Given the description of an element on the screen output the (x, y) to click on. 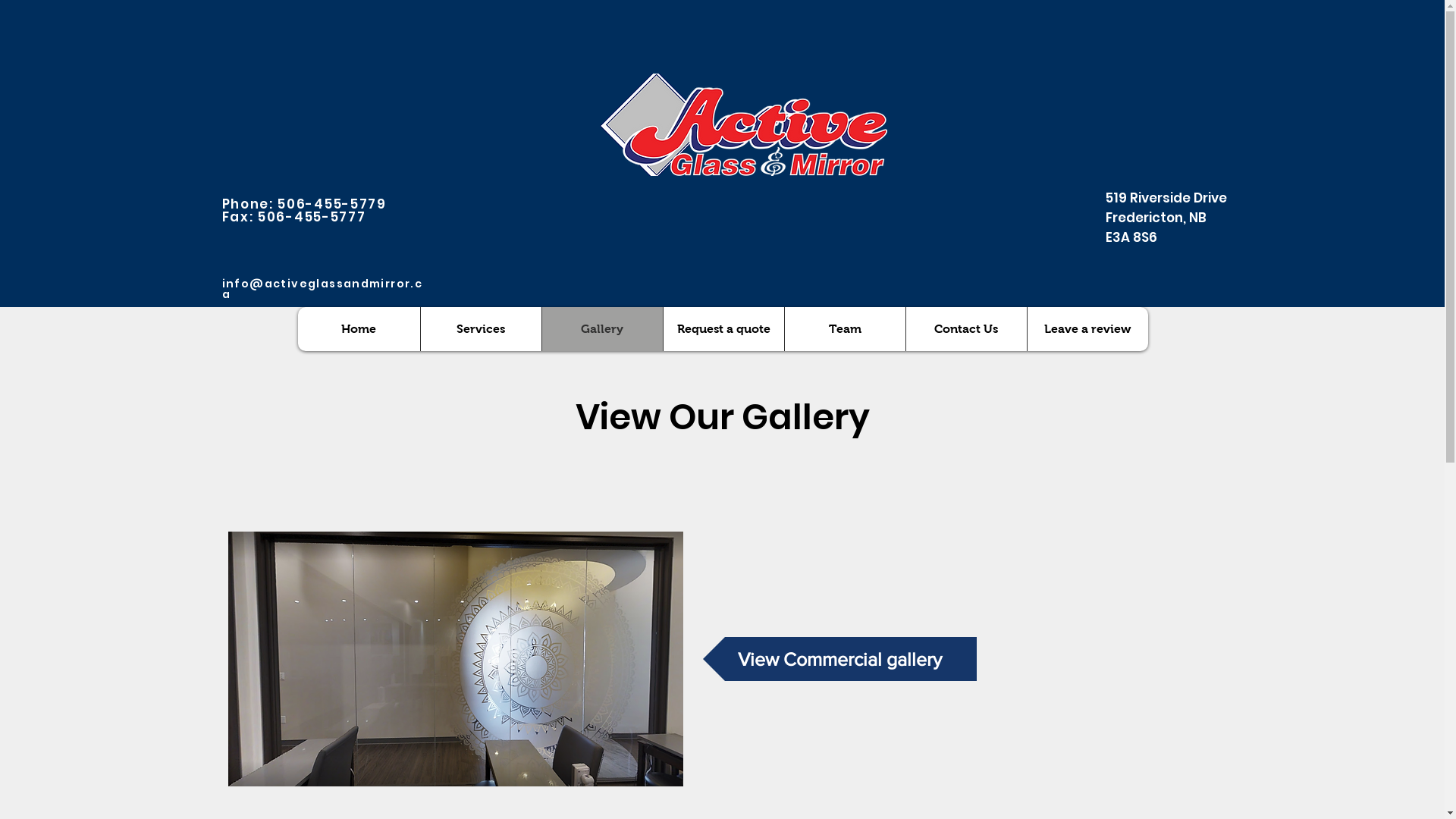
Contact Us Element type: text (965, 329)
Gallery Element type: text (601, 329)
Services Element type: text (480, 329)
View Commercial gallery Element type: text (838, 658)
Leave a review Element type: text (1087, 329)
info@activeglassandmirror.ca Element type: text (321, 288)
Team Element type: text (844, 329)
Home Element type: text (358, 329)
Request a quote Element type: text (723, 329)
